Given the description of an element on the screen output the (x, y) to click on. 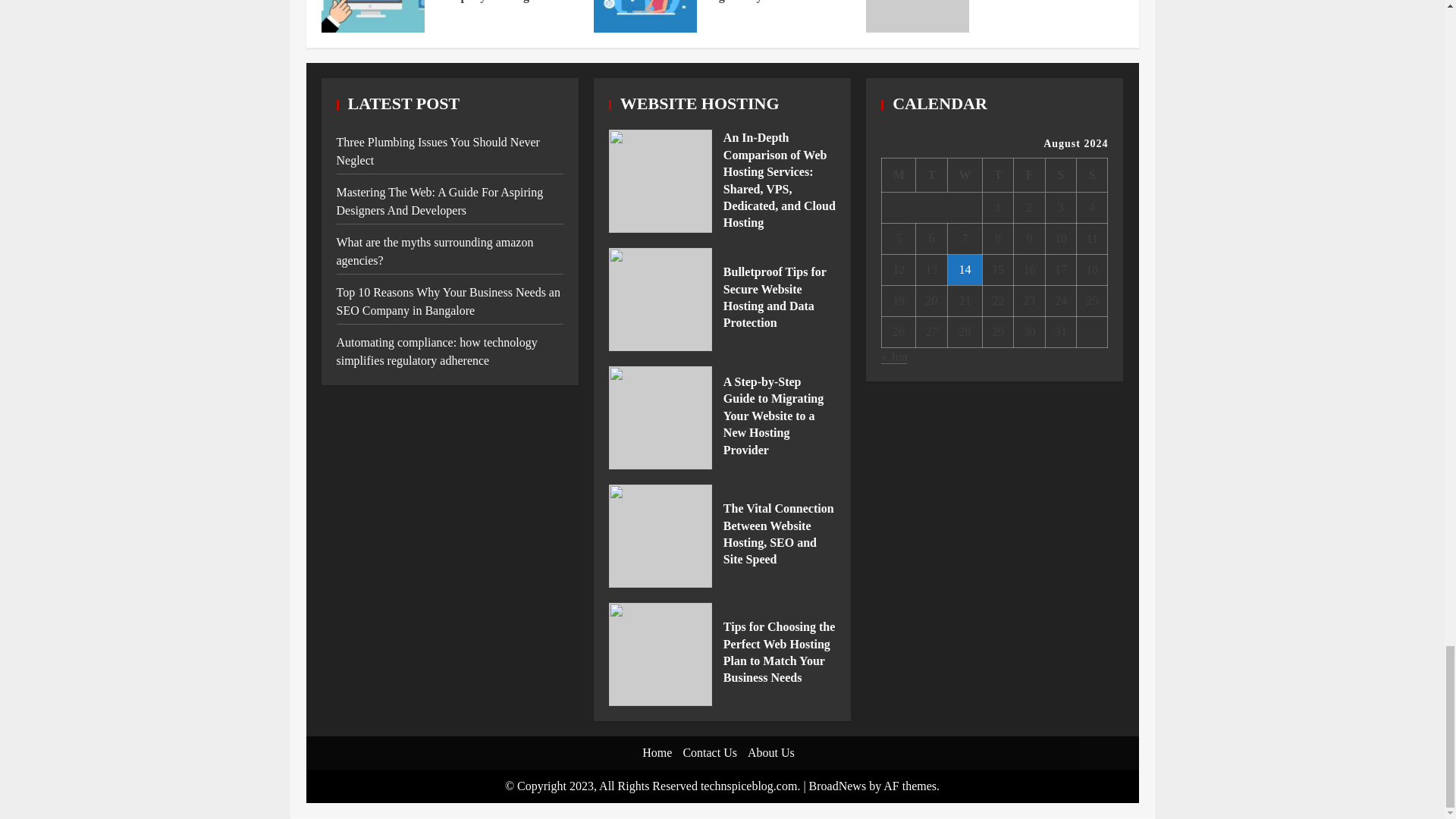
Tuesday (931, 175)
Saturday (1060, 175)
Monday (898, 175)
Sunday (1092, 175)
Wednesday (964, 175)
Friday (1029, 175)
Thursday (997, 175)
